Given the description of an element on the screen output the (x, y) to click on. 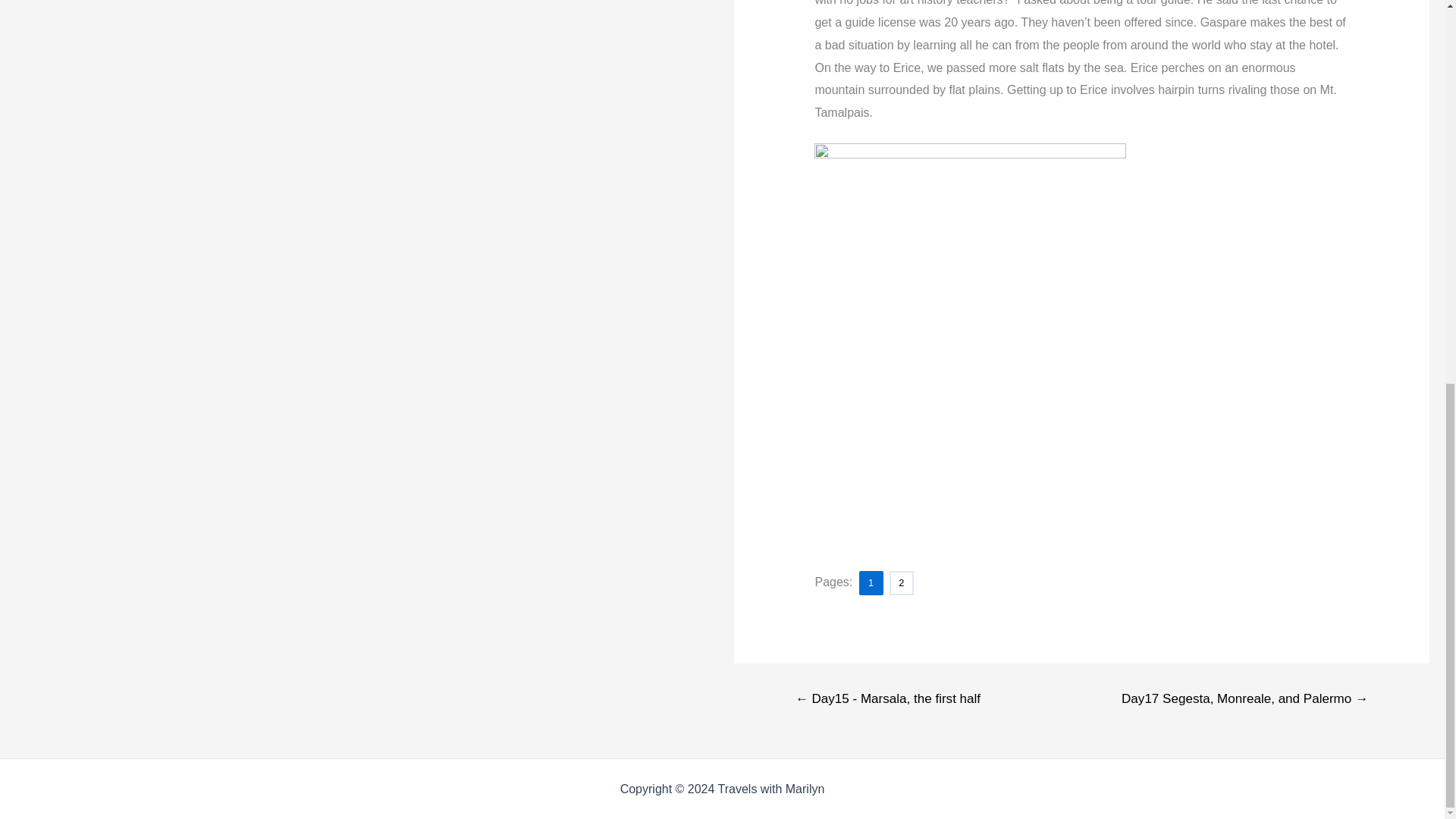
2 (900, 584)
